Given the description of an element on the screen output the (x, y) to click on. 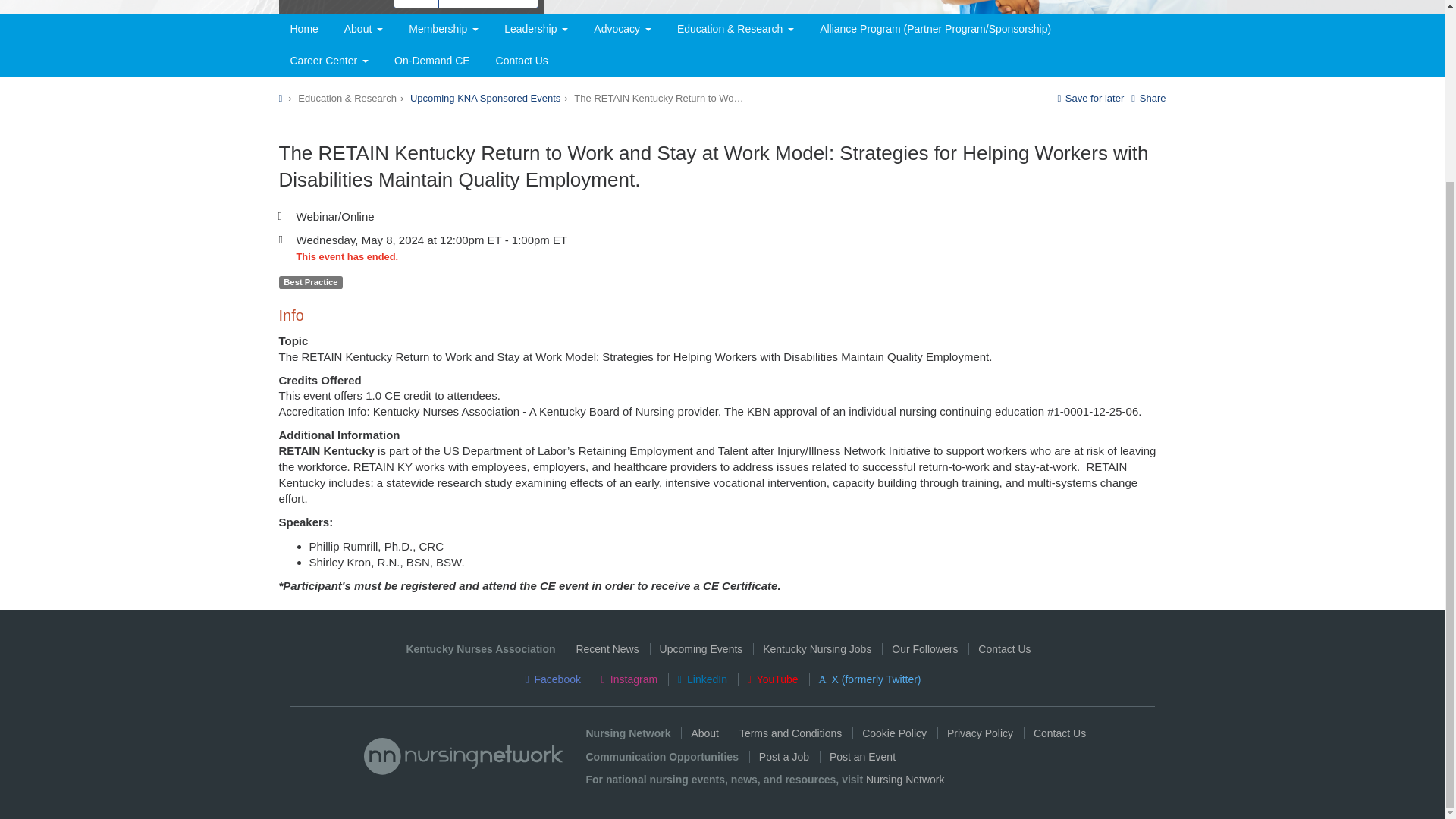
Home (304, 29)
About (363, 29)
Become a Member (488, 4)
Upcoming KNA Sponsored Events (485, 98)
Save for later (1090, 98)
